Given the description of an element on the screen output the (x, y) to click on. 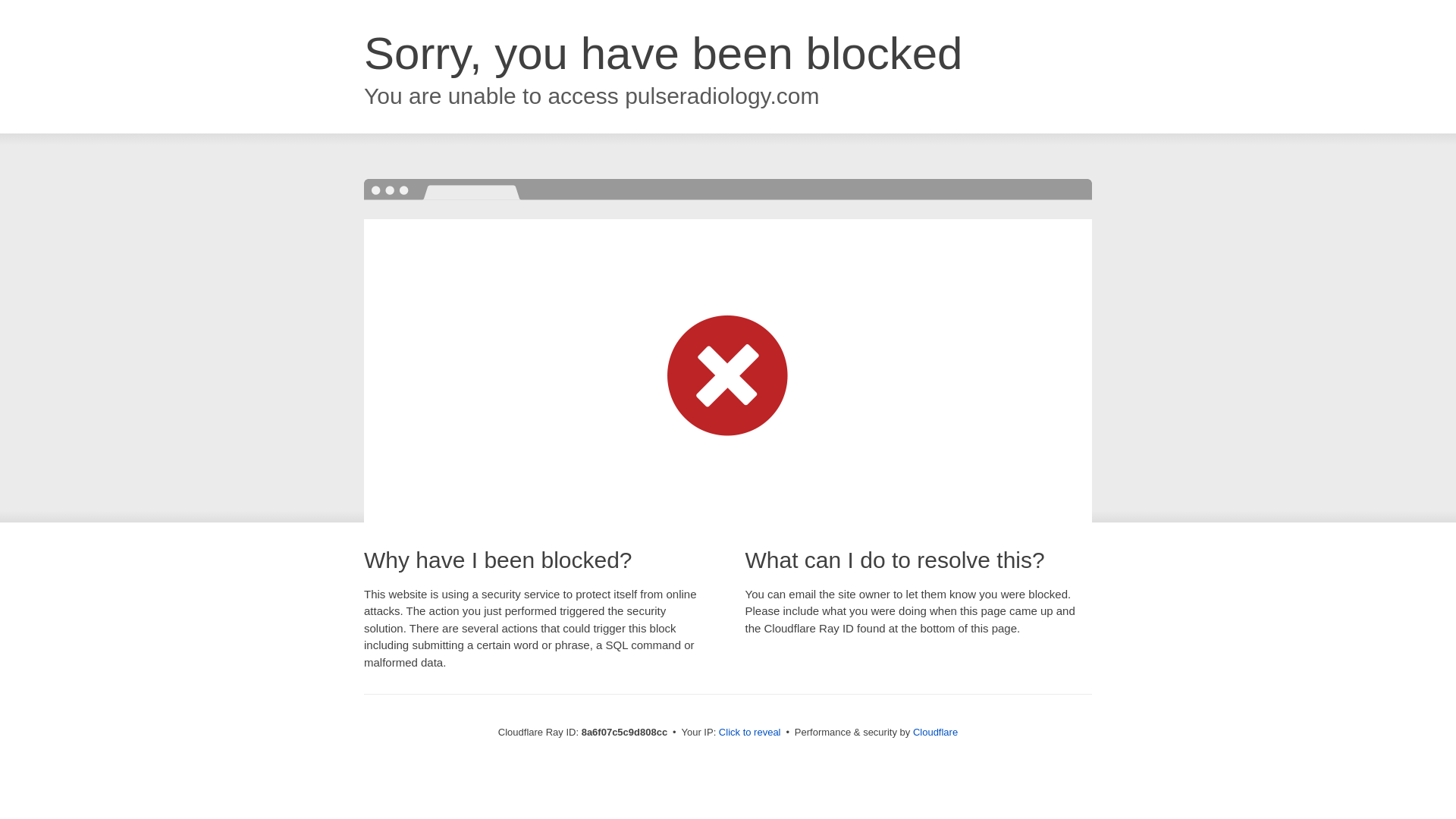
Click to reveal (749, 732)
Cloudflare (935, 731)
